Given the description of an element on the screen output the (x, y) to click on. 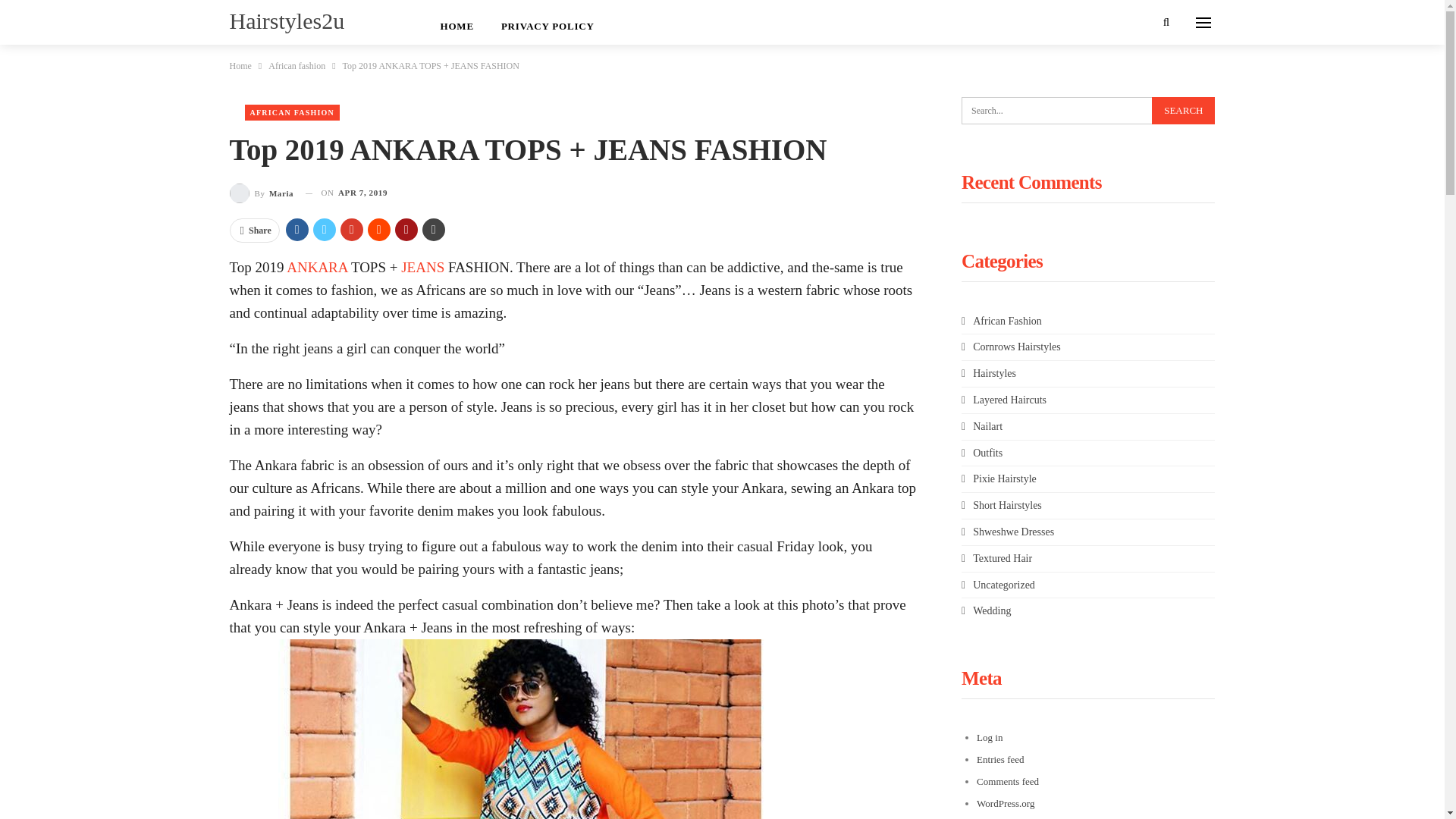
JEANS (422, 267)
PRIVACY POLICY (547, 22)
Search (1182, 110)
HOME (456, 22)
Home (239, 65)
Search for: (1087, 110)
AFRICAN FASHION (291, 112)
By Maria (261, 192)
ANKARA (316, 267)
African fashion (295, 65)
